Given the description of an element on the screen output the (x, y) to click on. 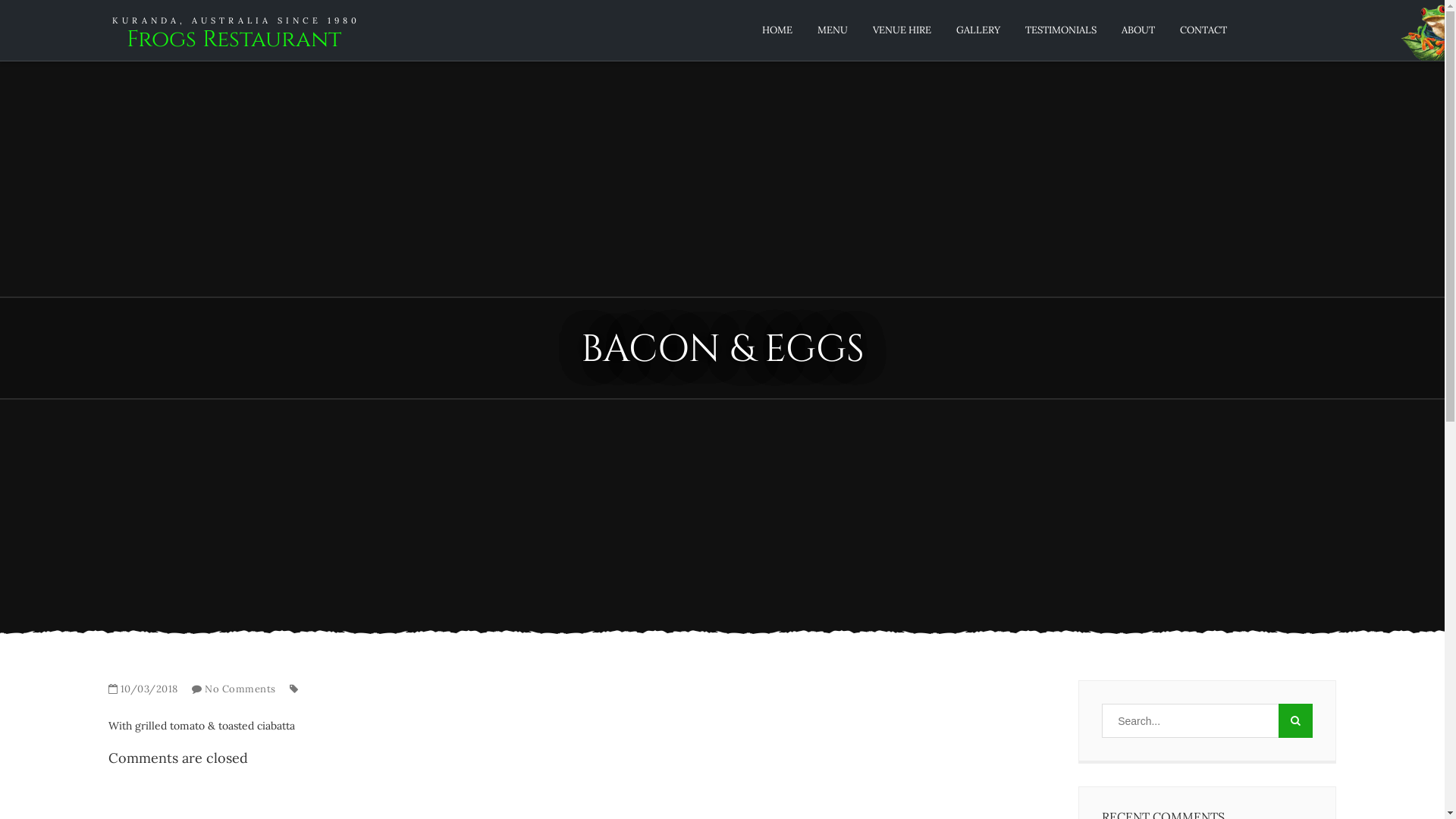
KURANDA, AUSTRALIA SINCE 1980
Frogs Restaurant Element type: text (234, 33)
ABOUT Element type: text (1138, 30)
HOME Element type: text (776, 30)
GALLERY Element type: text (977, 30)
VENUE HIRE Element type: text (901, 30)
No Comments Element type: text (240, 688)
MENU Element type: text (832, 30)
TESTIMONIALS Element type: text (1060, 30)
CONTACT Element type: text (1203, 30)
